Given the description of an element on the screen output the (x, y) to click on. 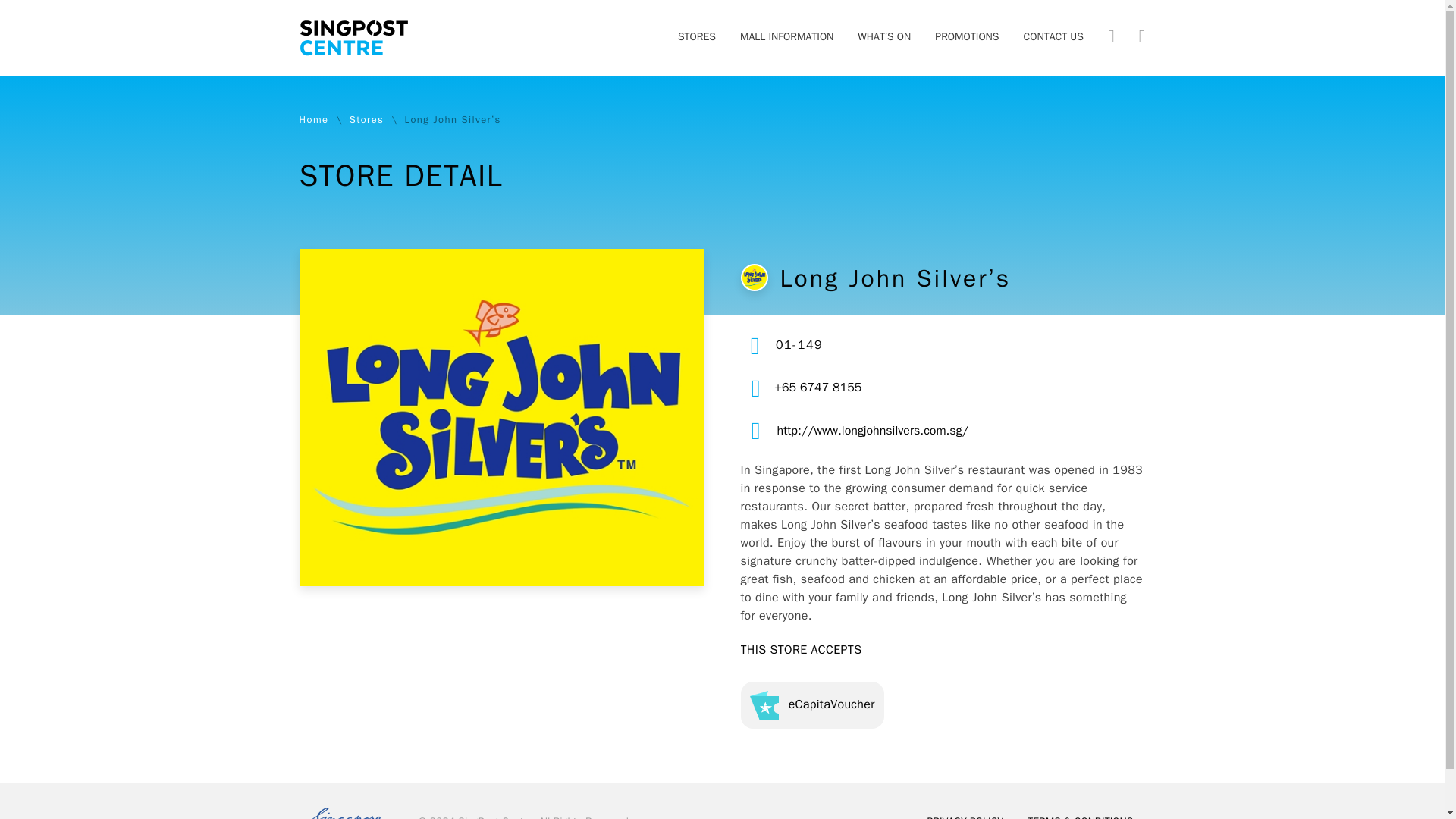
Stores (366, 119)
PRIVACY POLICY (964, 813)
Go to Home. (313, 119)
Go to Stores. (366, 119)
Home (313, 119)
MALL INFORMATION (785, 38)
